Given the description of an element on the screen output the (x, y) to click on. 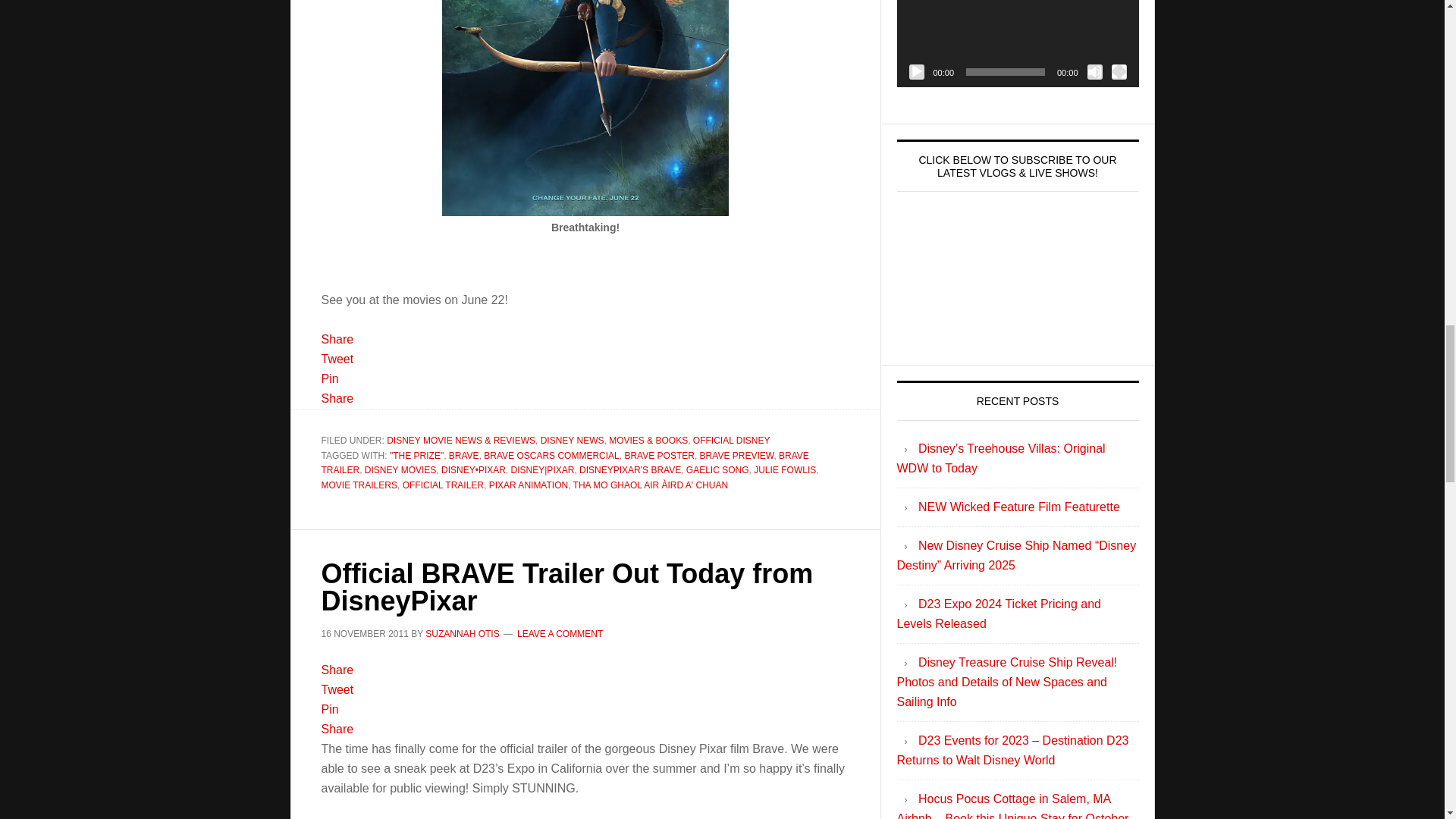
Brave poster (585, 107)
Mute (1094, 71)
Fullscreen (1119, 71)
Play (915, 71)
